Given the description of an element on the screen output the (x, y) to click on. 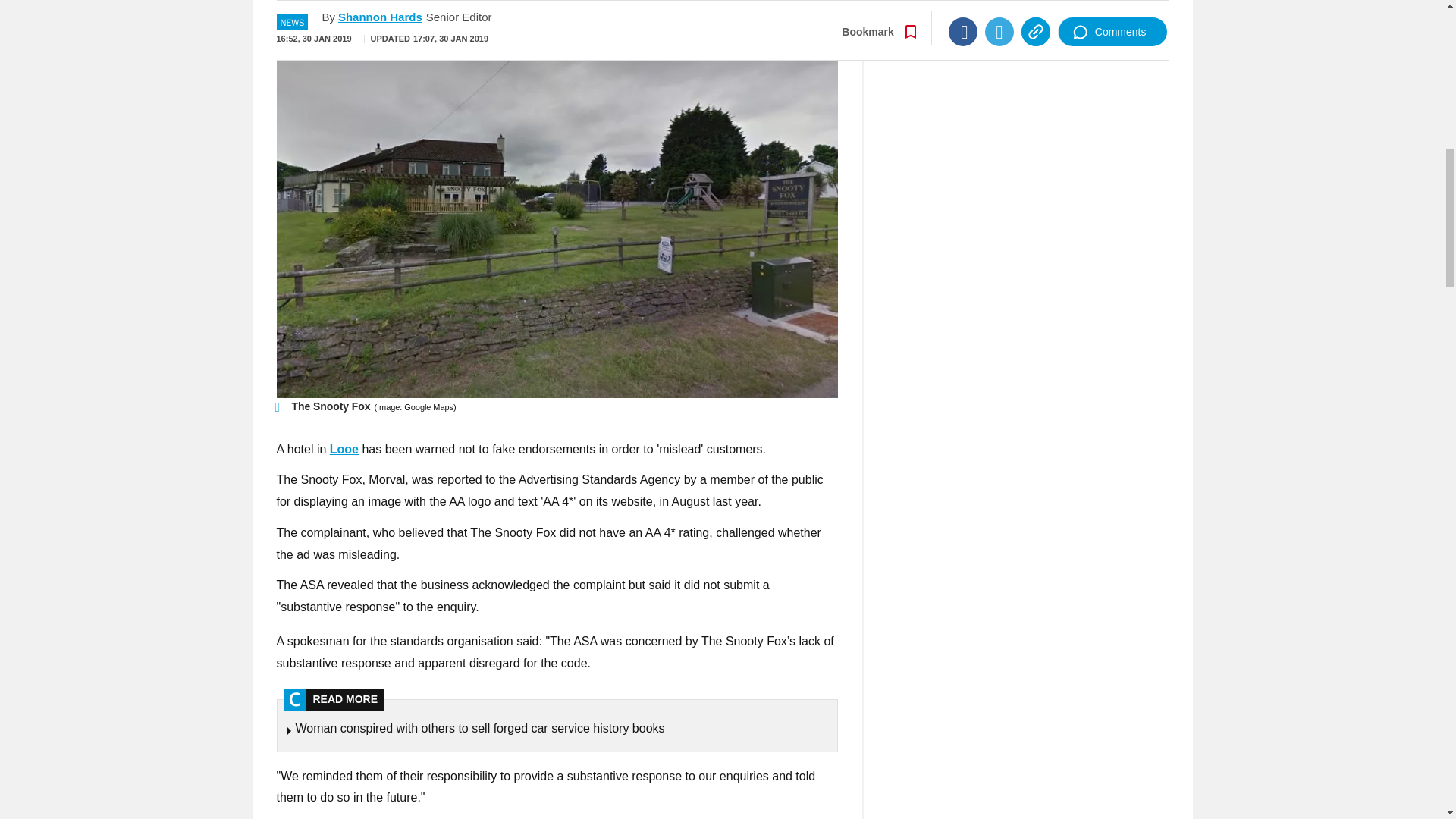
Go (730, 2)
